Given the description of an element on the screen output the (x, y) to click on. 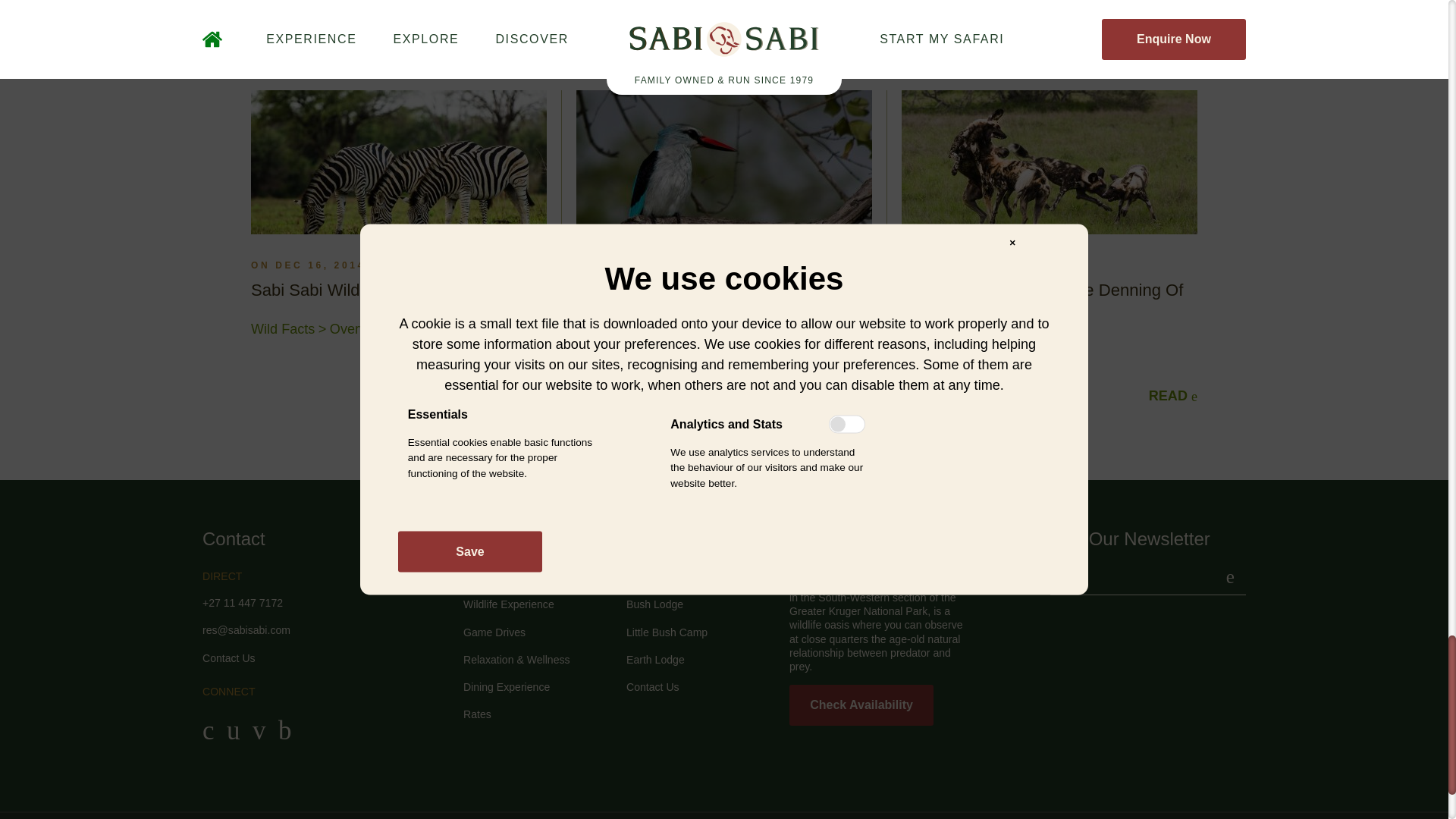
Woodland Kingfisher (724, 162)
Wild Dog 5 (1048, 162)
Zebra 5 (398, 162)
